Given the description of an element on the screen output the (x, y) to click on. 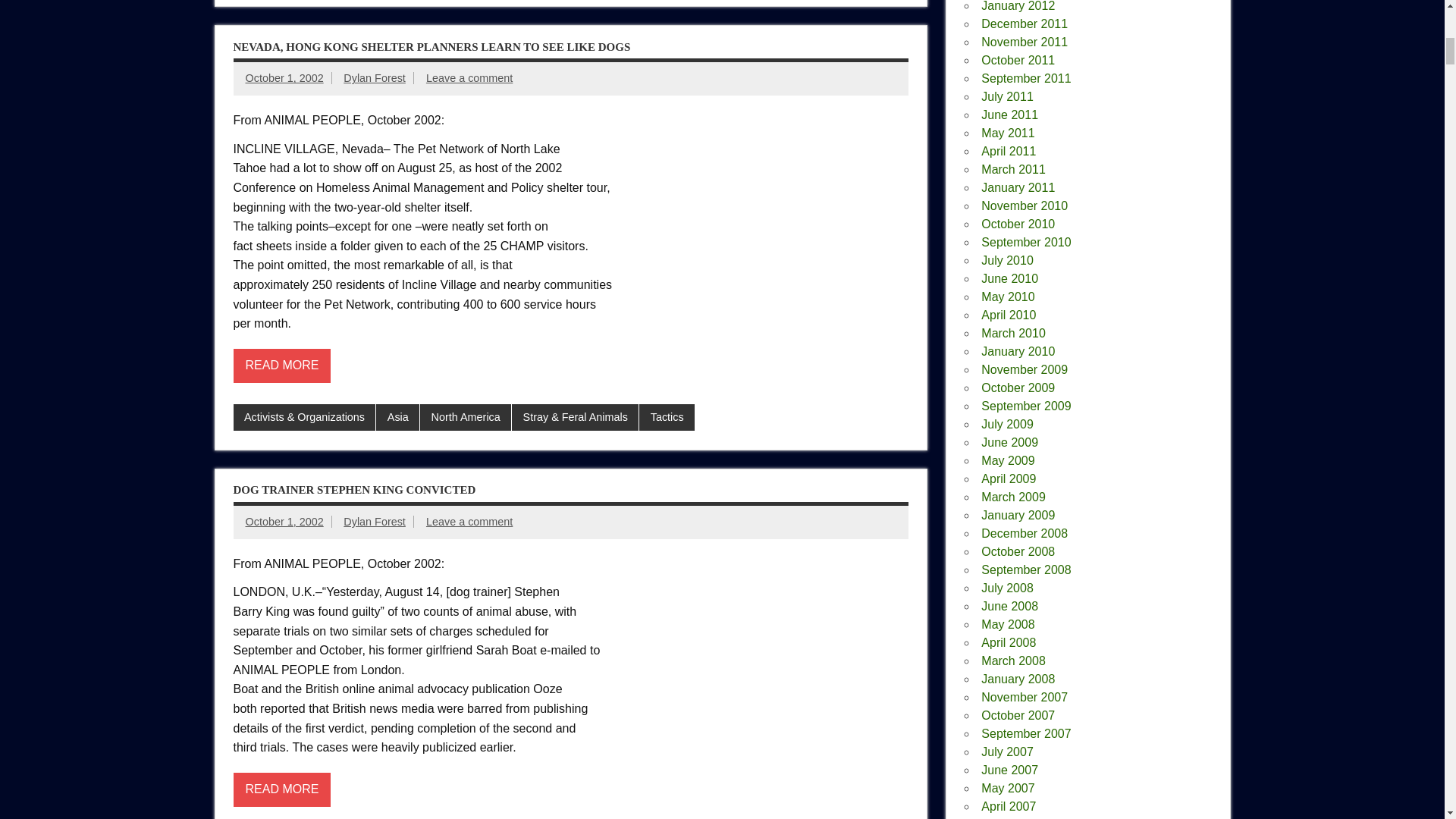
READ MORE (281, 789)
7:08 pm (284, 78)
October 1, 2002 (284, 521)
Dylan Forest (374, 521)
View all posts by Dylan Forest (374, 78)
Dylan Forest (374, 78)
October 1, 2002 (284, 78)
View all posts by Dylan Forest (374, 521)
Tactics (666, 417)
7:04 pm (284, 521)
DOG TRAINER STEPHEN KING CONVICTED (354, 490)
NEVADA, HONG KONG SHELTER PLANNERS LEARN TO SEE LIKE DOGS (431, 46)
Leave a comment (469, 78)
READ MORE (281, 365)
Asia (397, 417)
